Given the description of an element on the screen output the (x, y) to click on. 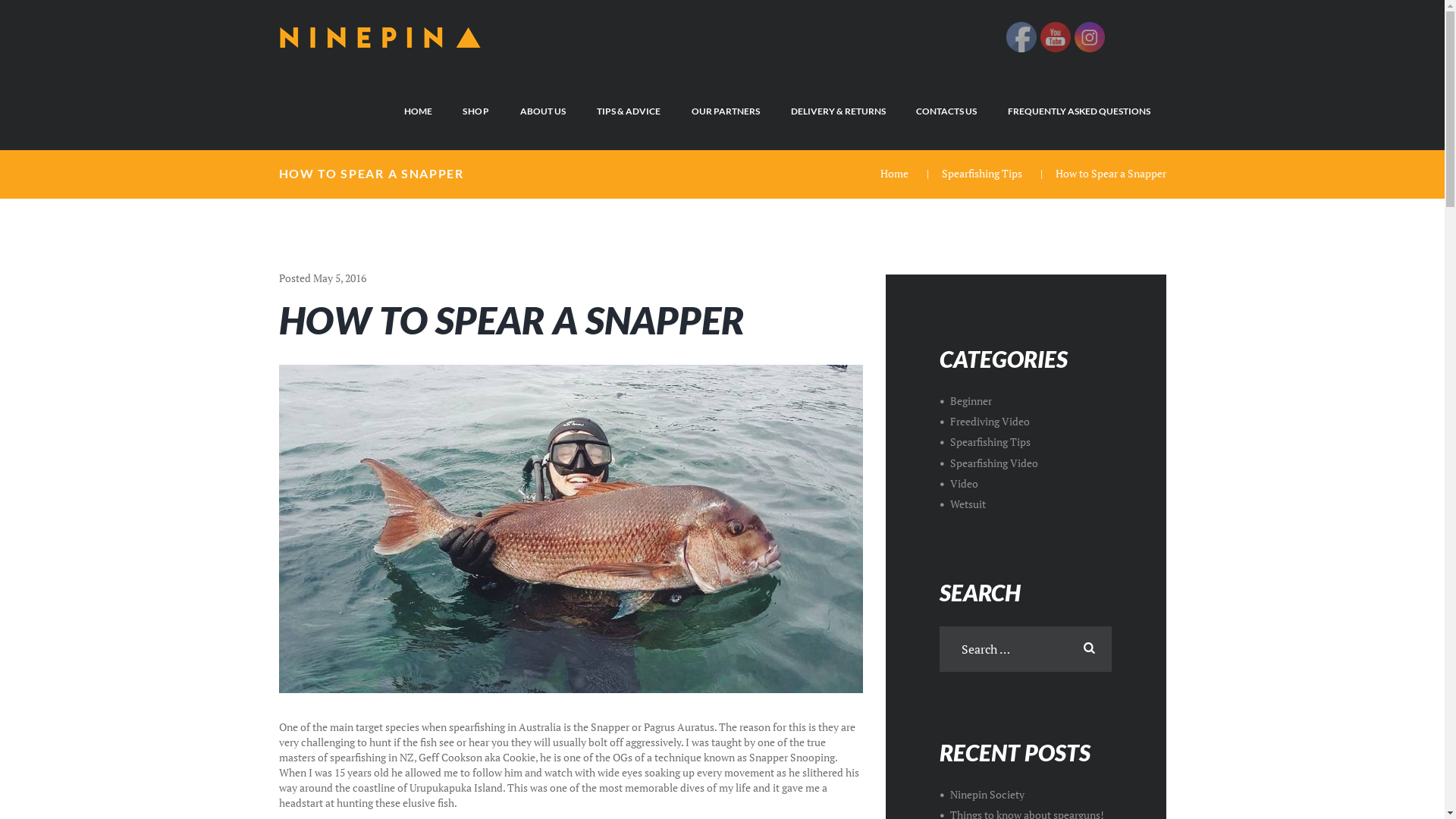
How to Spear a Snapper Element type: hover (570, 528)
Instagram Element type: hover (1088, 36)
Spearfishing Tips Element type: text (981, 173)
Ninepin Society Element type: text (987, 794)
Home Element type: text (894, 173)
OUR PARTNERS Element type: text (725, 109)
Freediving Video Element type: text (989, 421)
Video Element type: text (964, 483)
Spearfishing Tips Element type: text (990, 441)
Wetsuit Element type: text (967, 503)
DELIVERY & RETURNS Element type: text (837, 109)
Beginner Element type: text (970, 400)
Spearfishing Video Element type: text (994, 462)
SHOP Element type: text (476, 109)
TIPS & ADVICE Element type: text (628, 109)
HOME Element type: text (417, 109)
May 5, 2016 Element type: text (338, 277)
Facebook Element type: hover (1020, 36)
ABOUT US Element type: text (543, 109)
Search for: Element type: hover (1025, 648)
CONTACTS US Element type: text (946, 109)
FREQUENTLY ASKED QUESTIONS Element type: text (1079, 109)
YouTube Element type: hover (1055, 36)
